Given the description of an element on the screen output the (x, y) to click on. 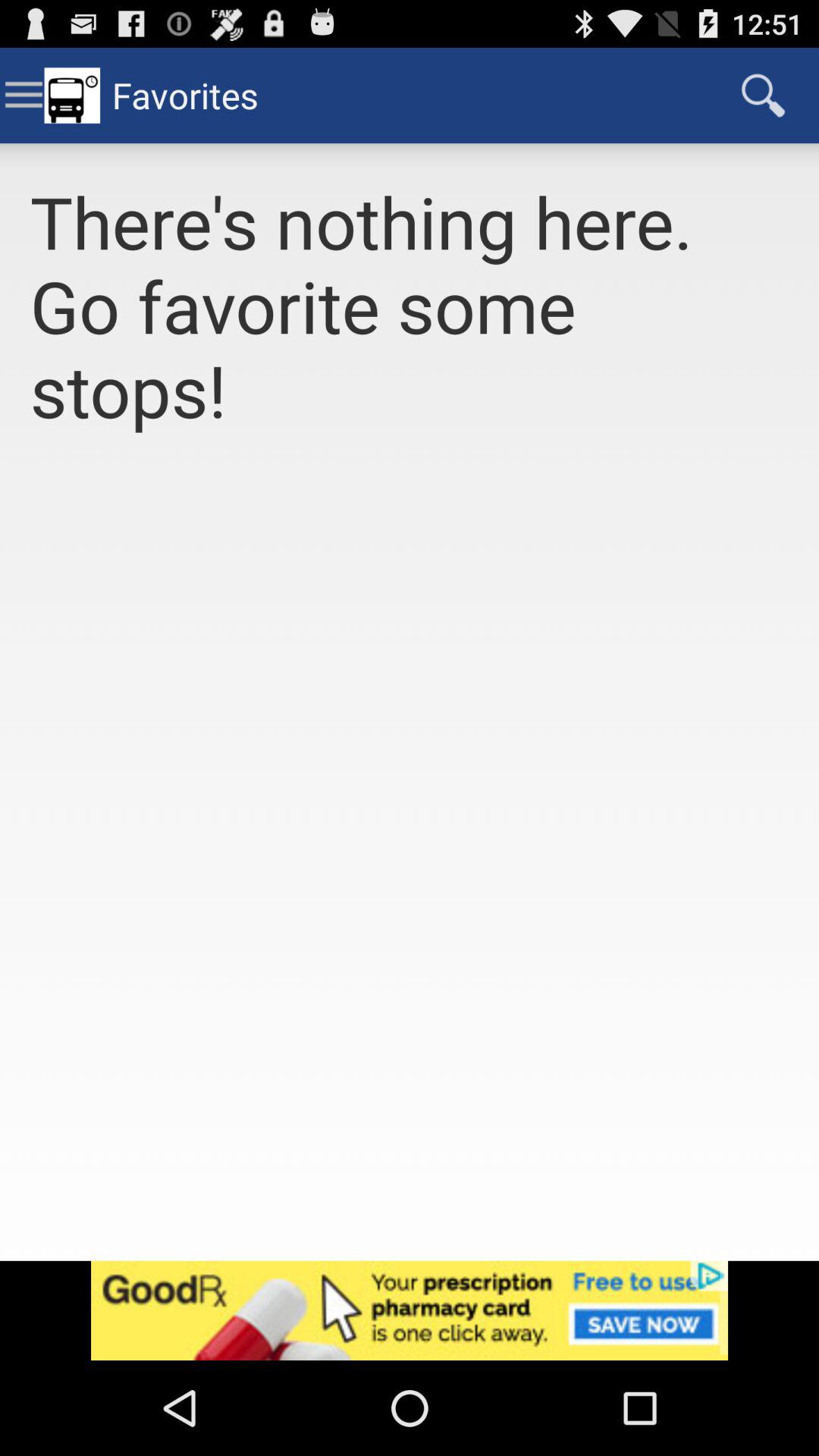
advertisement (409, 1310)
